Given the description of an element on the screen output the (x, y) to click on. 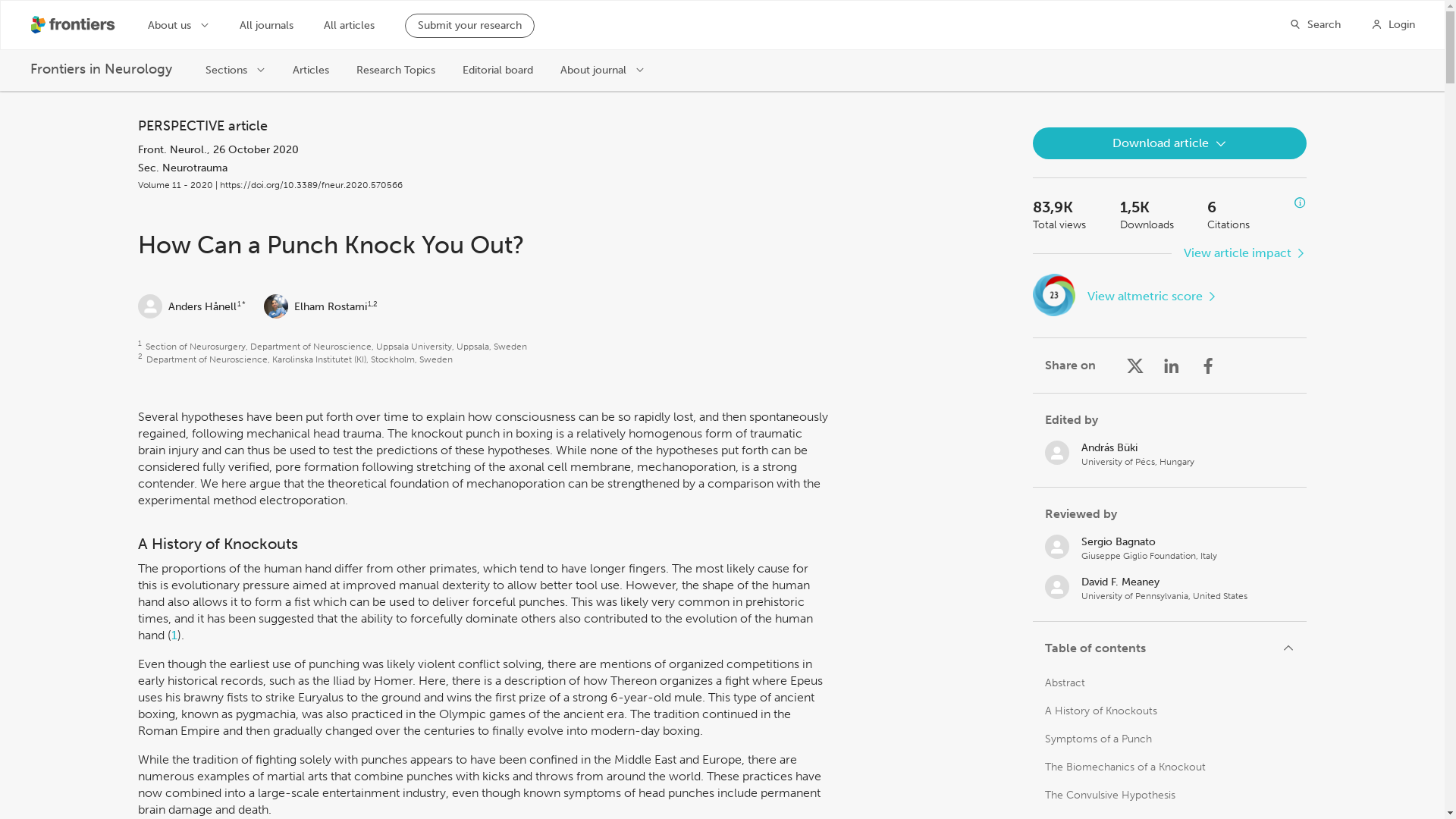
Search (1314, 24)
Login (1393, 24)
Share on X (1134, 365)
All journals (267, 25)
Share on Facebook (1207, 365)
All articles (348, 25)
About us (178, 24)
Submit your research (469, 25)
Share on Linkedin (1170, 365)
